Given the description of an element on the screen output the (x, y) to click on. 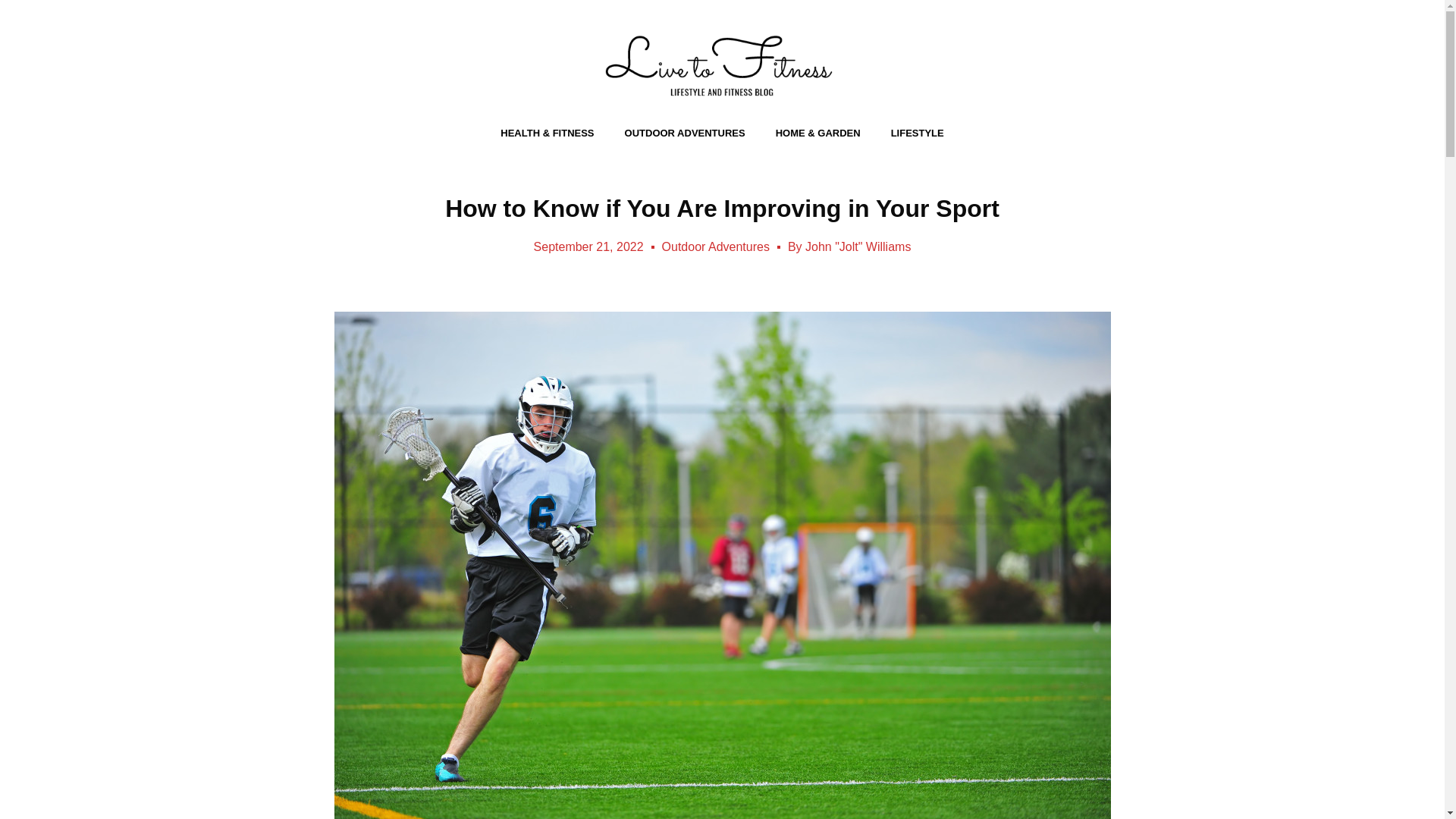
OUTDOOR ADVENTURES (685, 133)
Outdoor Adventures (716, 246)
By John "Jolt" Williams (849, 246)
September 21, 2022 (588, 246)
LIFESTYLE (917, 133)
